Given the description of an element on the screen output the (x, y) to click on. 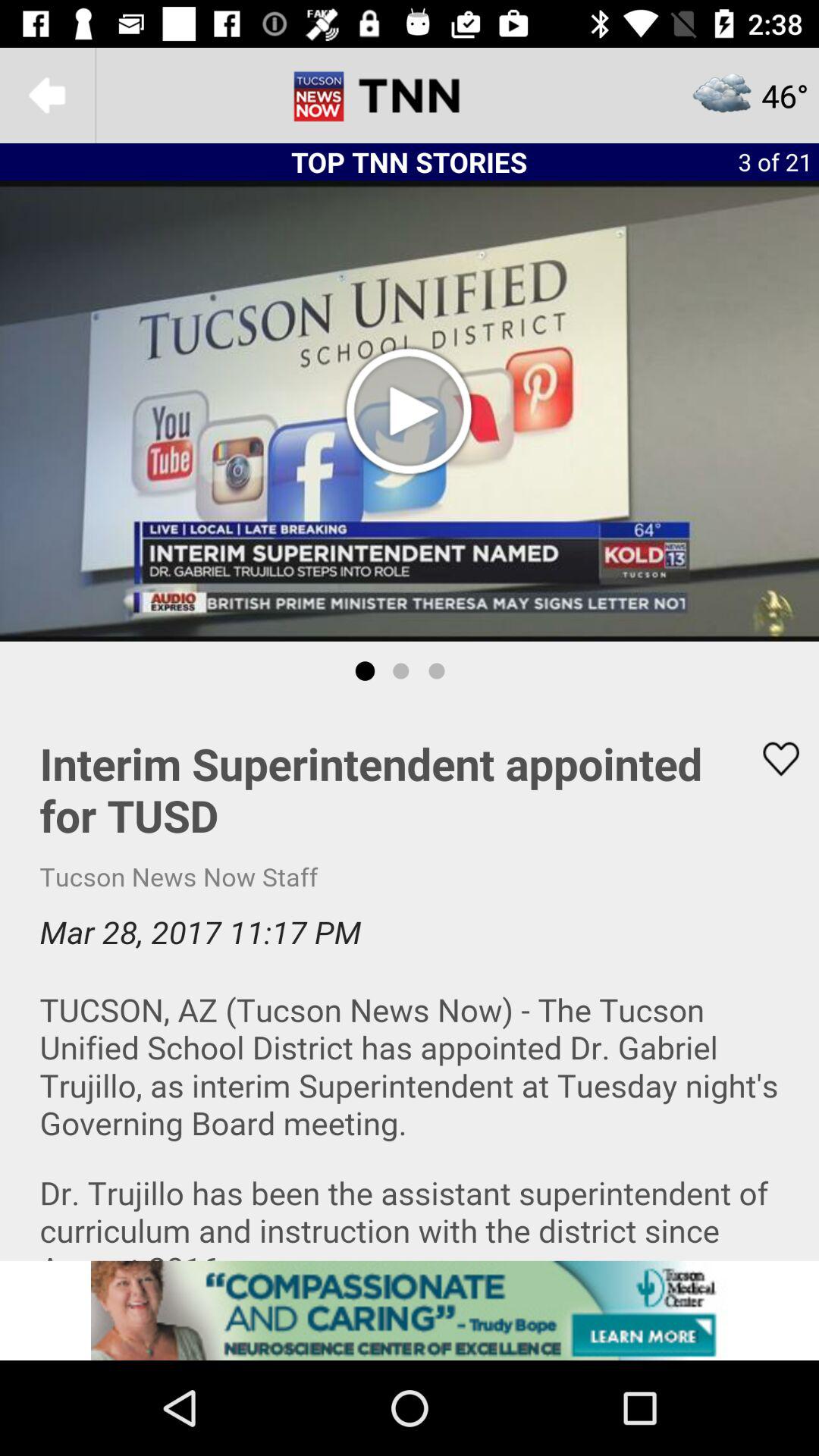
return home (409, 95)
